Given the description of an element on the screen output the (x, y) to click on. 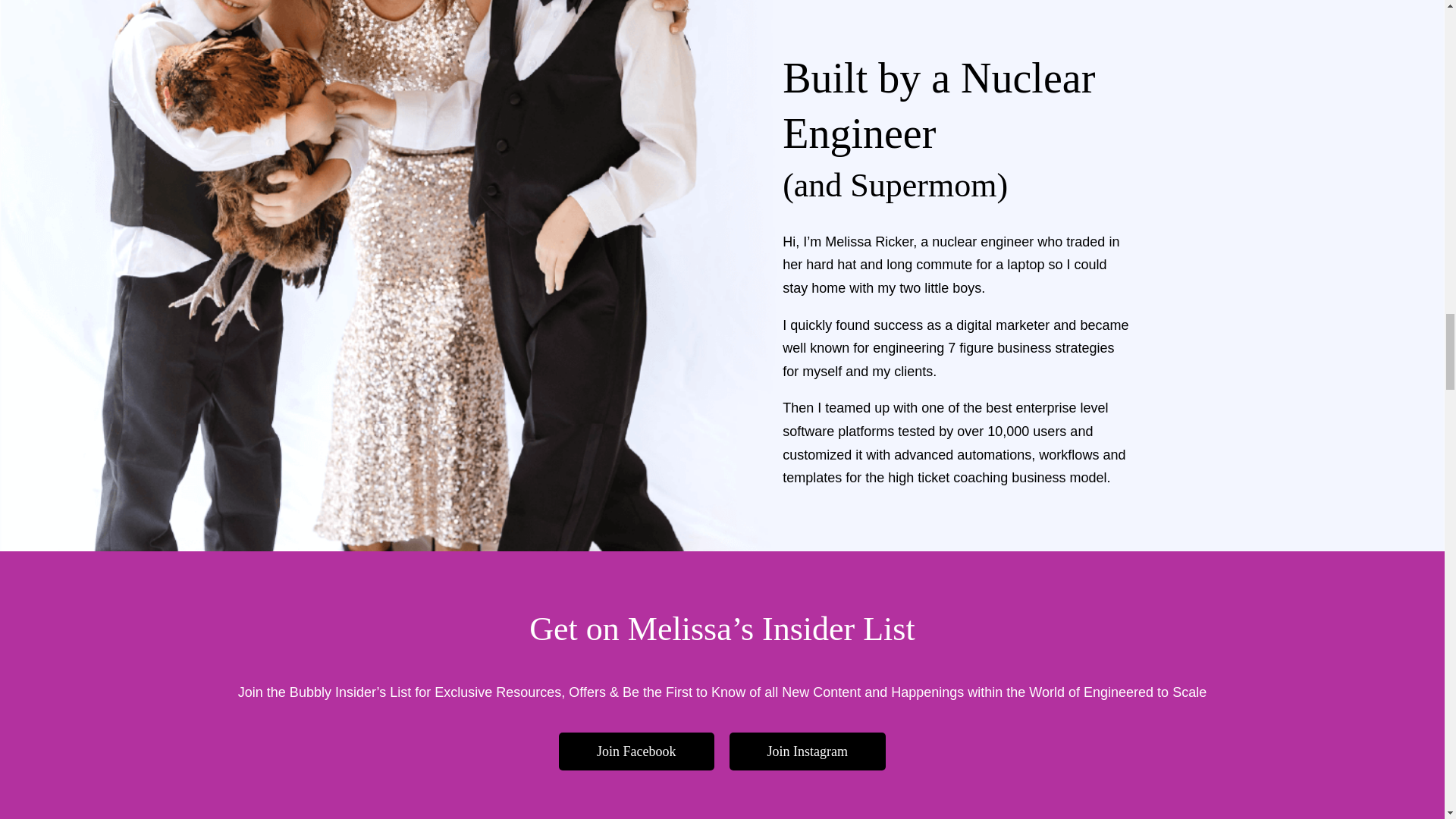
engineer icon - Melissa Ricker (1055, 25)
Join Instagram (807, 751)
Join Facebook (636, 751)
